Given the description of an element on the screen output the (x, y) to click on. 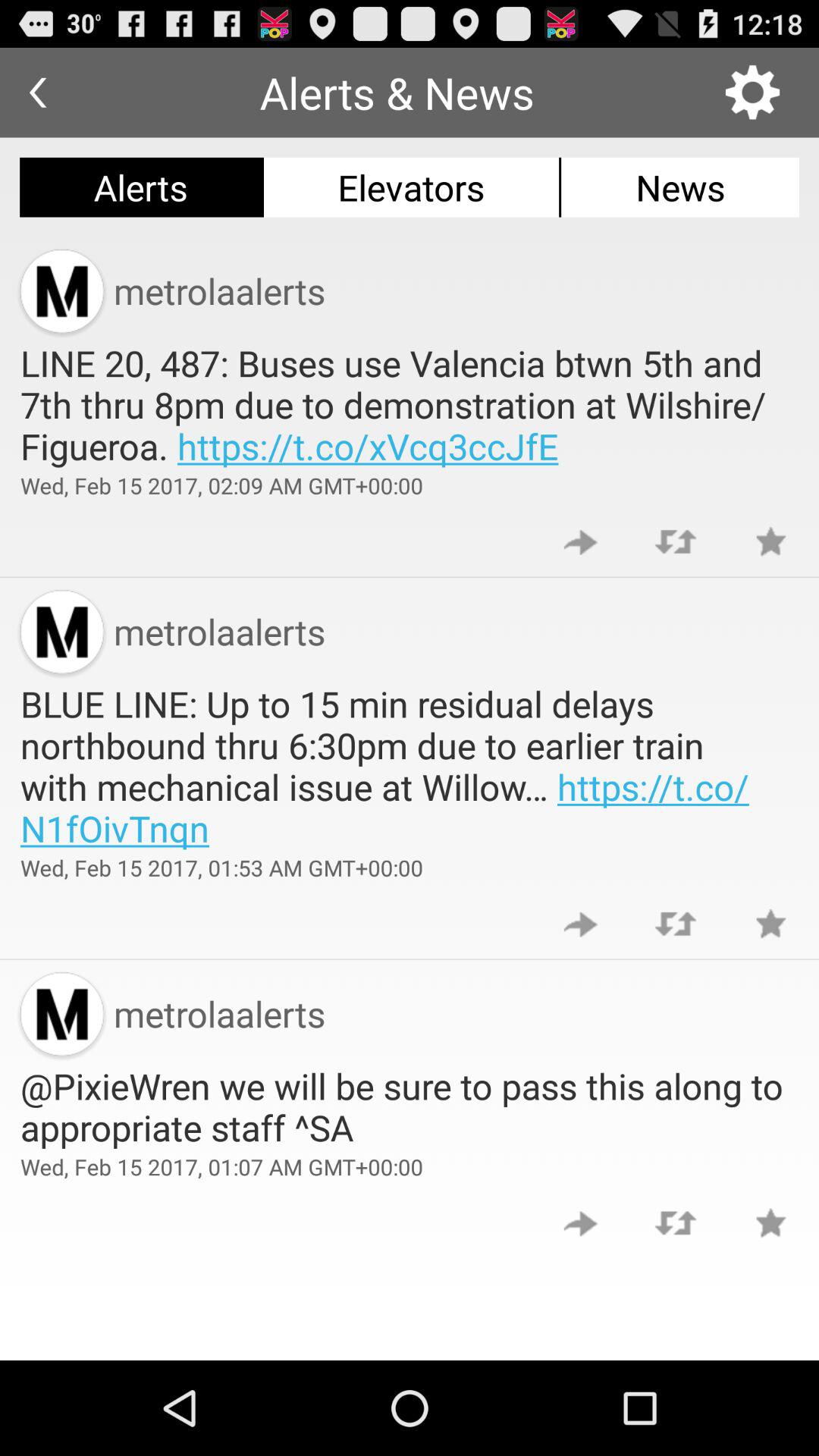
turn off the item next to the alerts & news app (752, 92)
